Given the description of an element on the screen output the (x, y) to click on. 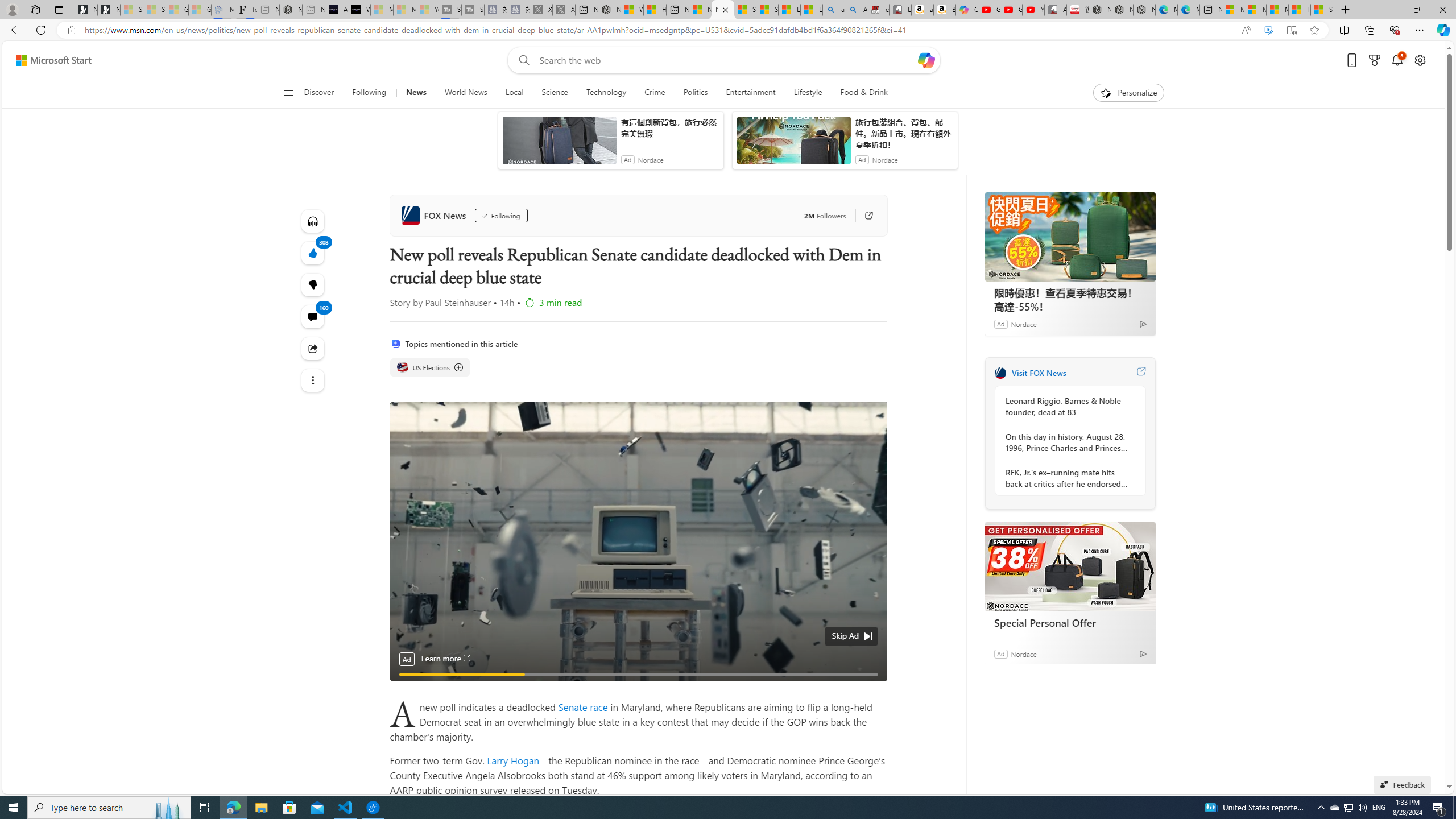
Skip Ad (845, 635)
Science (554, 92)
I Gained 20 Pounds of Muscle in 30 Days! | Watch (1300, 9)
Go to publisher's site (863, 215)
News (415, 92)
Huge shark washes ashore at New York City beach | Watch (655, 9)
Larry Hogan (513, 759)
